Given the description of an element on the screen output the (x, y) to click on. 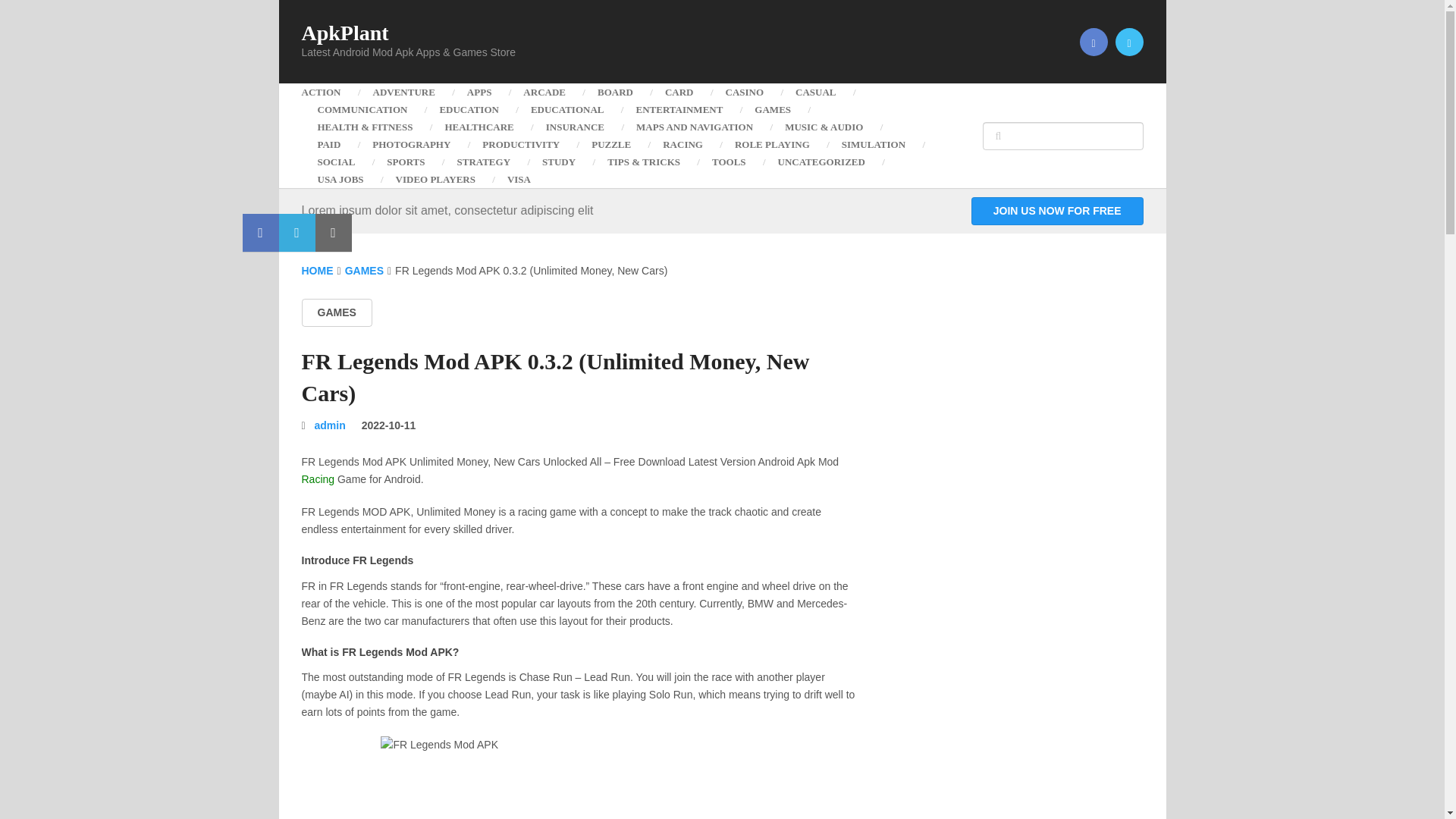
CASINO (745, 91)
EDUCATIONAL (567, 108)
INSURANCE (574, 126)
COMMUNICATION (362, 108)
RACING (682, 144)
PRODUCTIVITY (520, 144)
VIDEO PLAYERS (436, 179)
SPORTS (406, 161)
TOOLS (728, 161)
View all posts in Games (336, 312)
CASUAL (814, 91)
STUDY (558, 161)
ROLE PLAYING (772, 144)
GAMES (772, 108)
BOARD (614, 91)
